Given the description of an element on the screen output the (x, y) to click on. 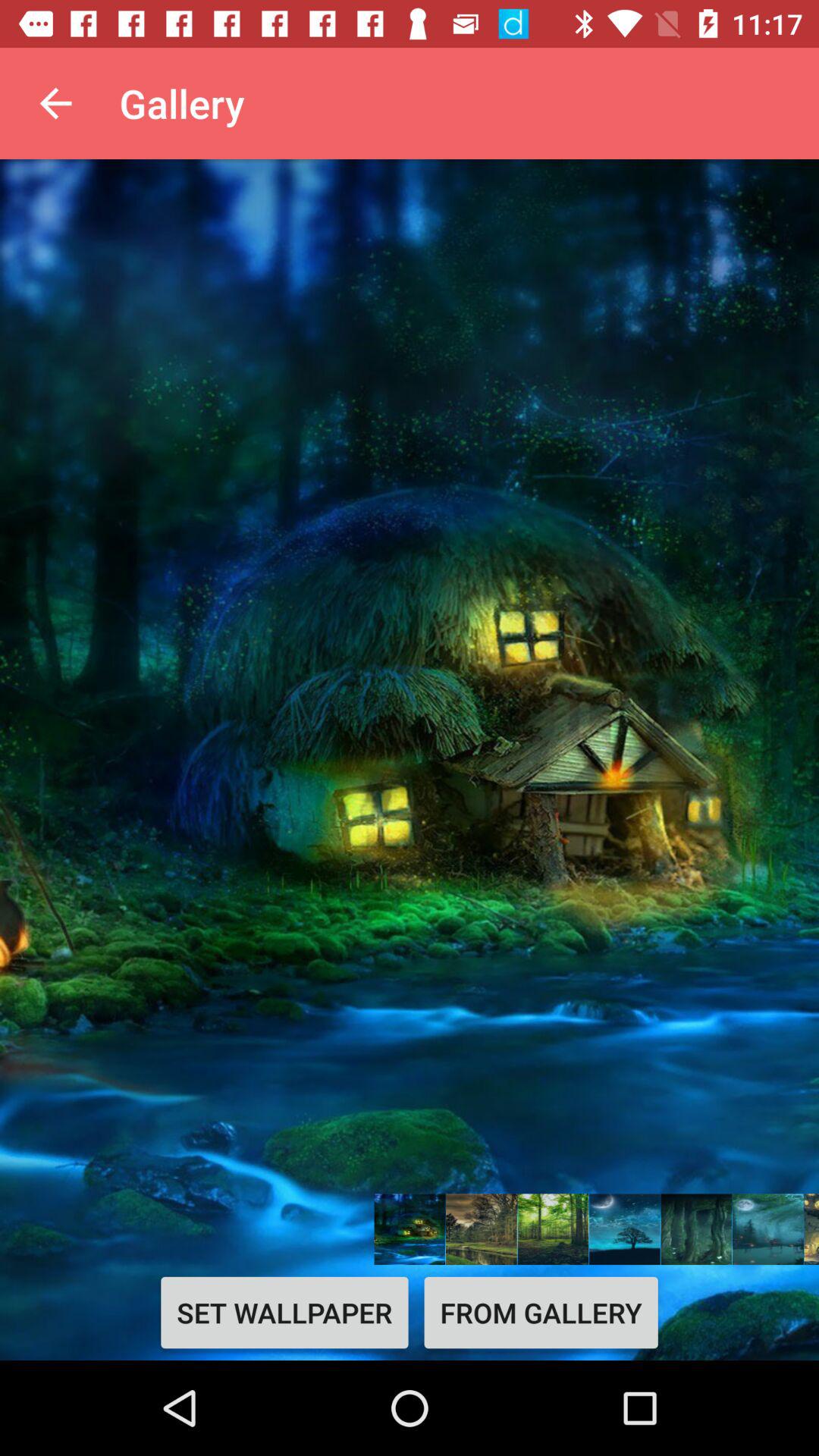
click from gallery (541, 1312)
